Given the description of an element on the screen output the (x, y) to click on. 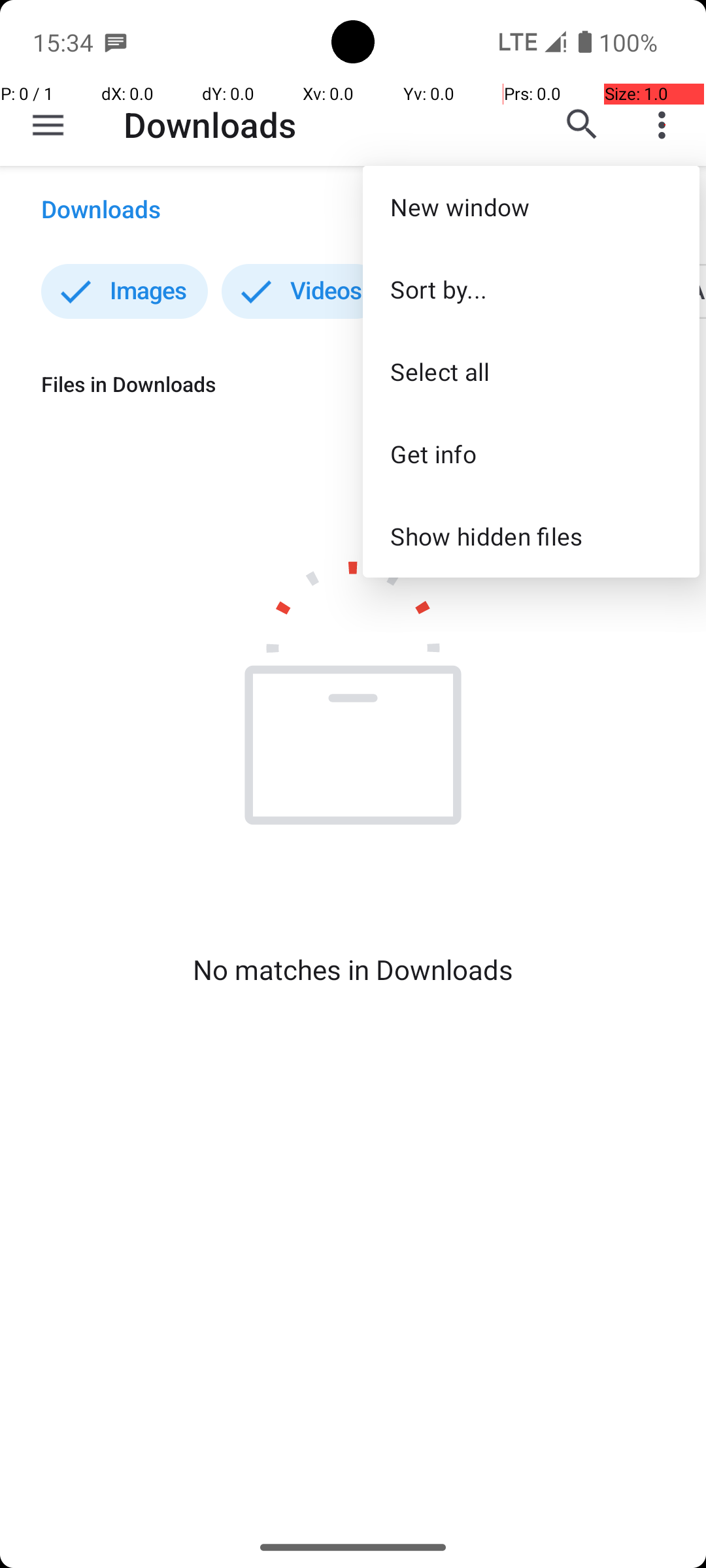
New window Element type: android.widget.TextView (531, 206)
Select all Element type: android.widget.TextView (531, 371)
Get info Element type: android.widget.TextView (531, 453)
Show hidden files Element type: android.widget.TextView (531, 535)
